Given the description of an element on the screen output the (x, y) to click on. 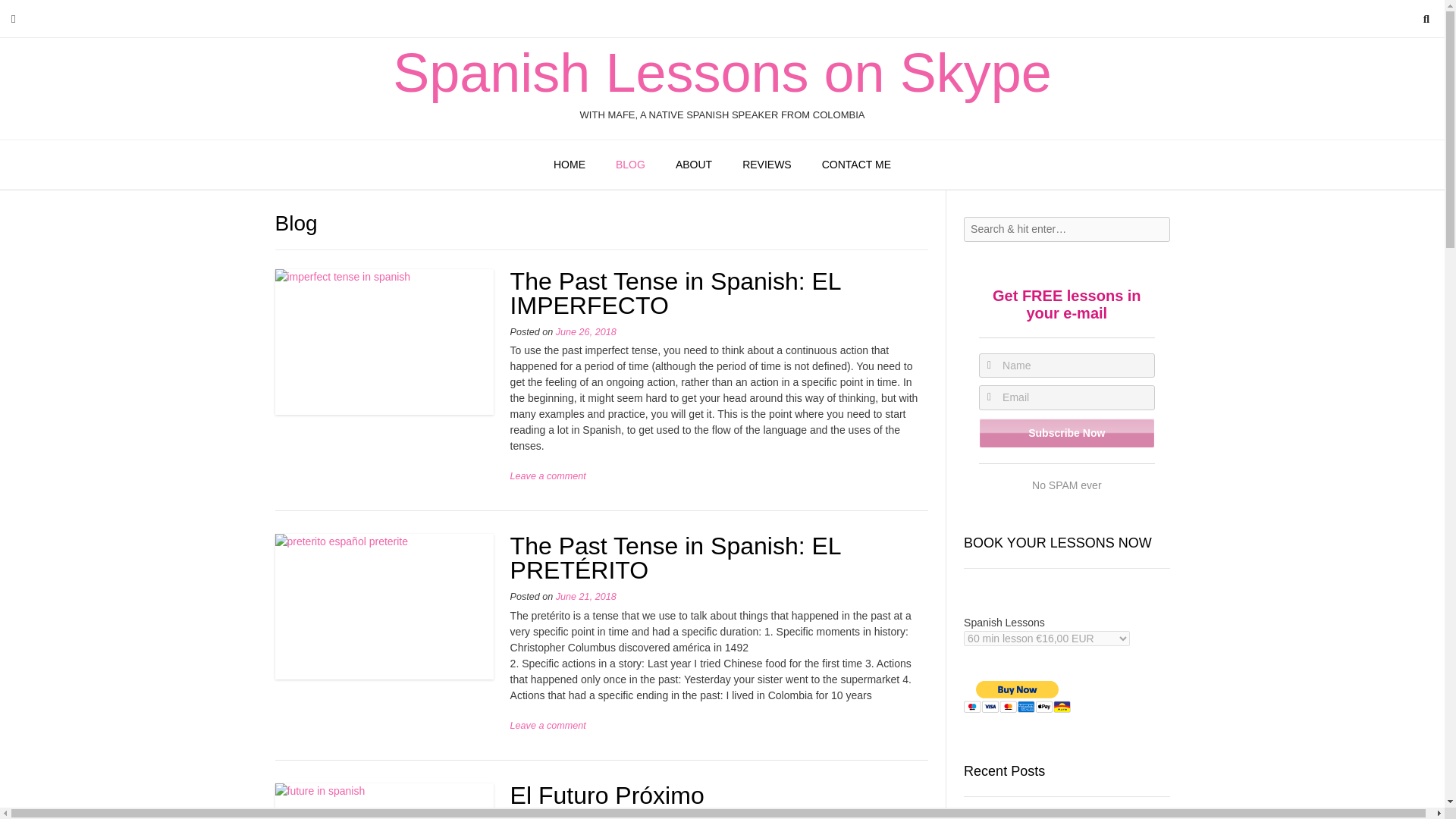
The Past Tense in Spanish: EL IMPERFECTO (676, 293)
Leave a comment (548, 725)
REVIEWS (766, 165)
Send Us an Email (12, 19)
June 5, 2018 (583, 817)
Spanish Lessons on Skype (722, 72)
BLOG (630, 165)
June 26, 2018 (585, 331)
June 21, 2018 (585, 596)
Spanish Lessons on Skype (722, 72)
CONTACT ME (855, 165)
HOME (568, 165)
Leave a comment (548, 475)
Subscribe Now (1066, 432)
